Given the description of an element on the screen output the (x, y) to click on. 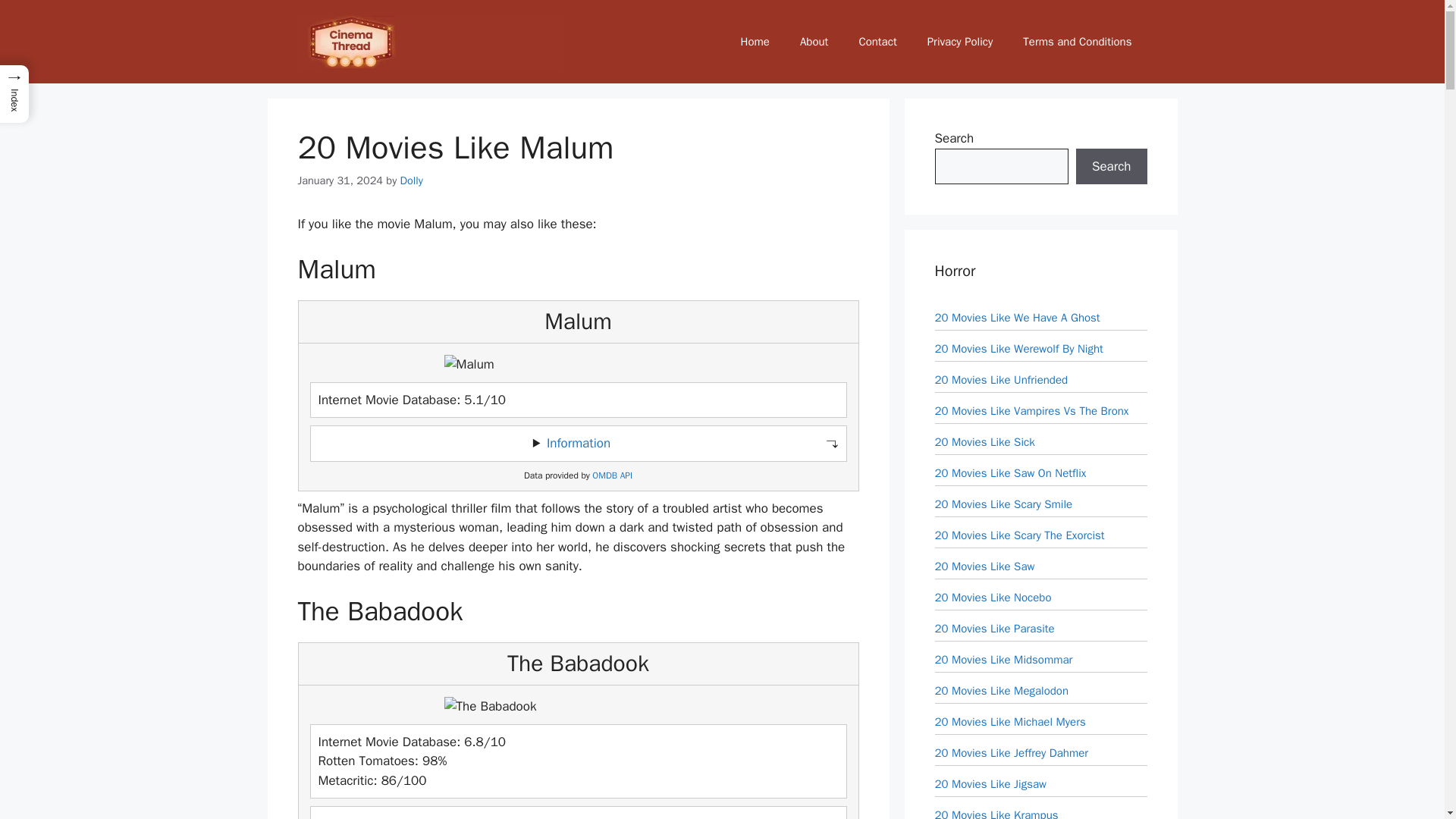
Home (754, 41)
Toggle information (578, 443)
View all posts by Dolly (411, 180)
Information (578, 817)
Toggle information (578, 812)
Contact (877, 41)
Open Movie Database API (611, 475)
Dolly (411, 180)
Privacy Policy (960, 41)
About (813, 41)
Terms and Conditions (1077, 41)
Information (578, 442)
OMDB API (611, 475)
